Given the description of an element on the screen output the (x, y) to click on. 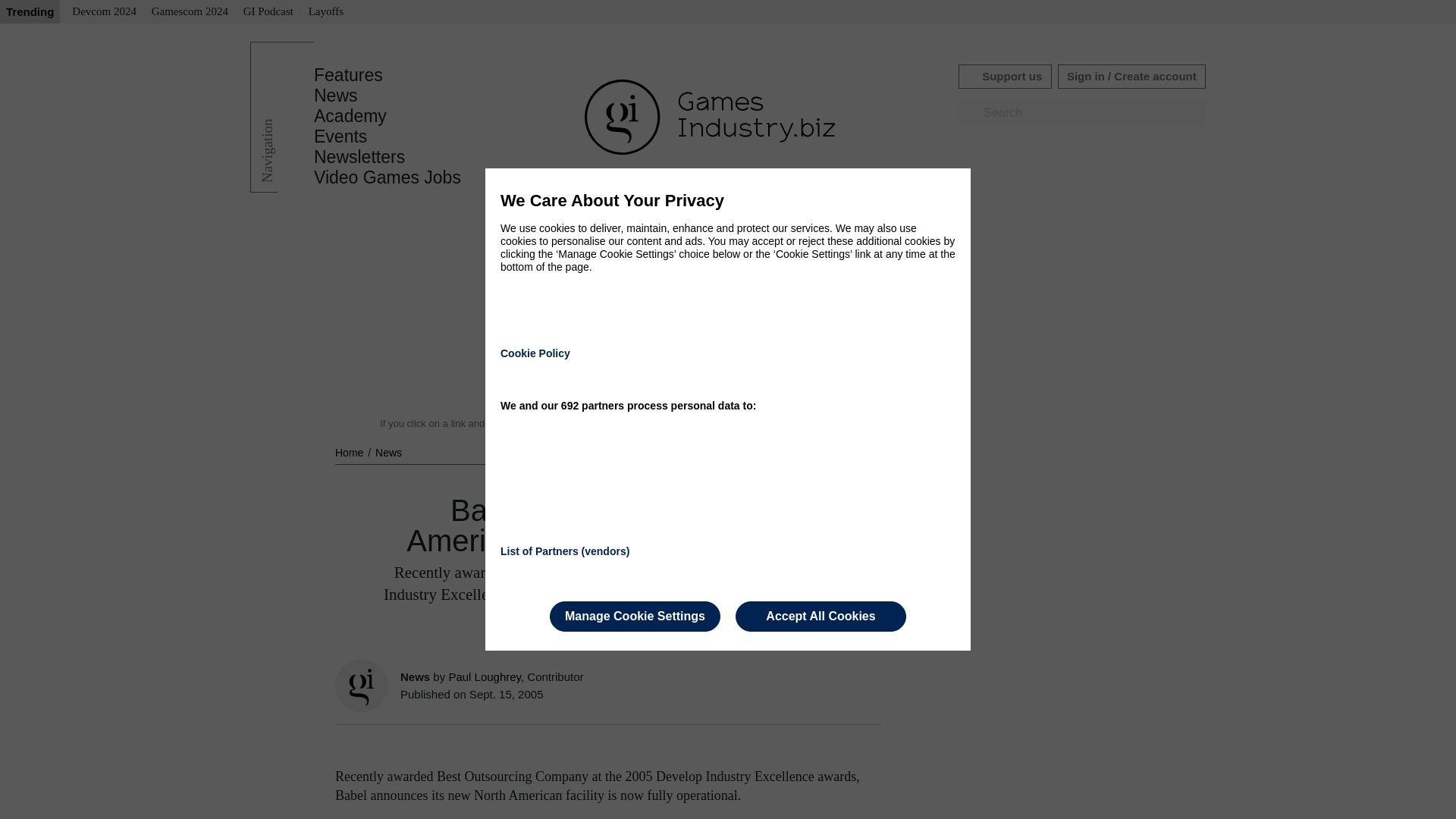
Academy (350, 116)
News (336, 95)
Home (350, 452)
Video Games Jobs (387, 177)
Newsletters (359, 157)
Events (340, 136)
Gamescom 2024 (189, 11)
Home (350, 452)
Video Games Jobs (387, 177)
GI Podcast (268, 11)
